Given the description of an element on the screen output the (x, y) to click on. 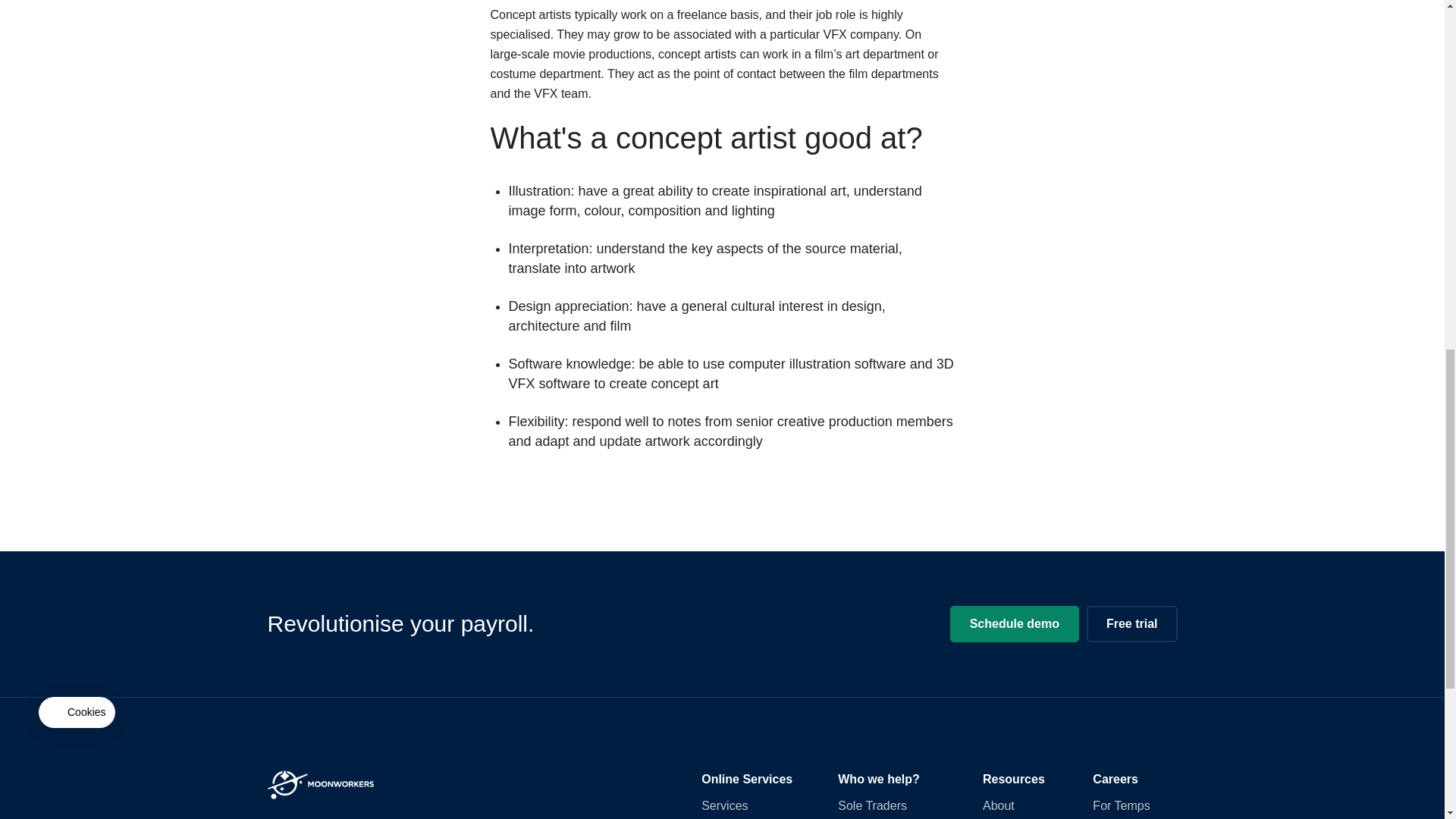
Sole Traders (872, 805)
Services (724, 805)
Schedule demo (1014, 624)
Free trial (1131, 624)
